Given the description of an element on the screen output the (x, y) to click on. 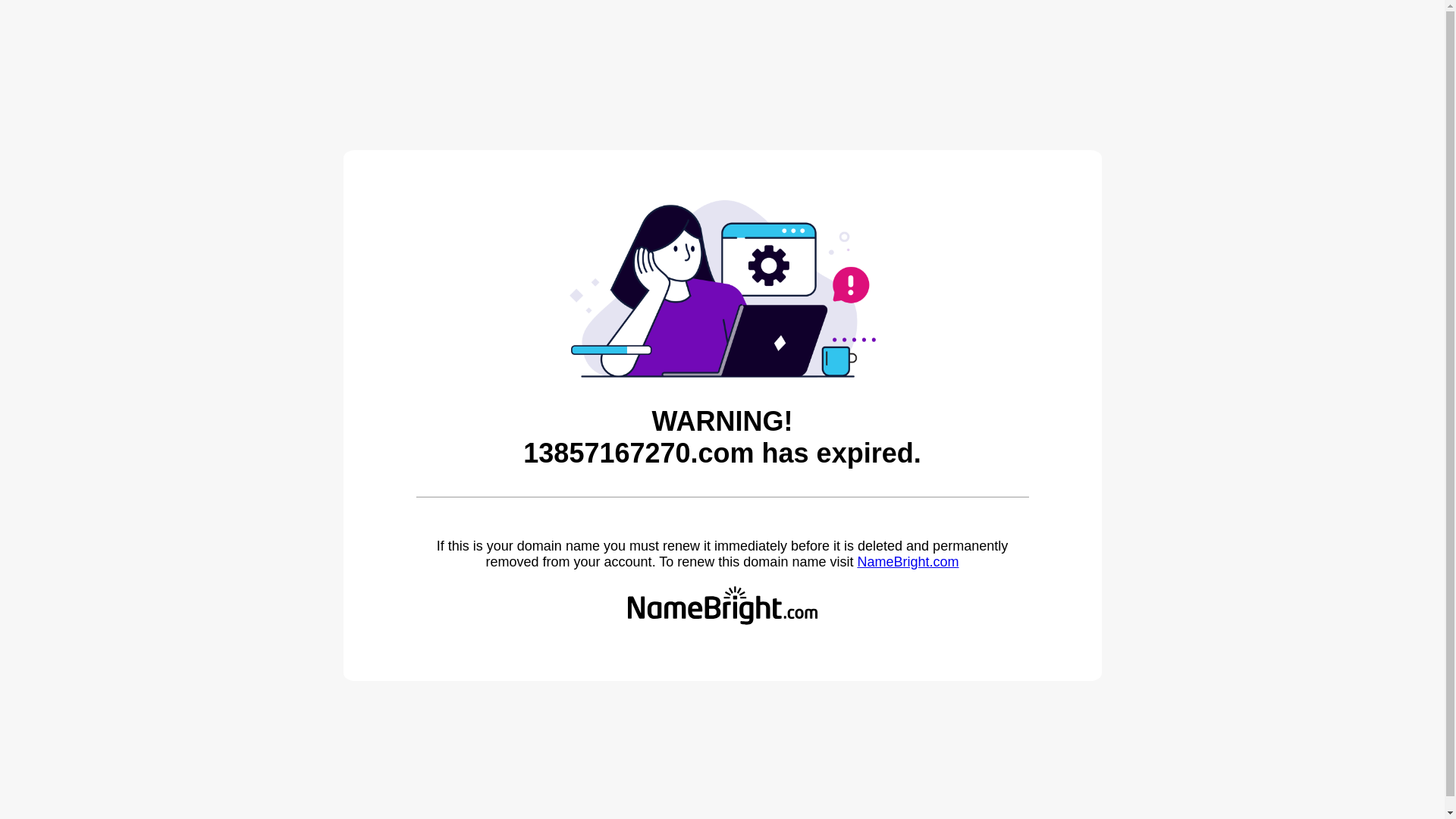
NameBright.com Element type: text (907, 561)
